Given the description of an element on the screen output the (x, y) to click on. 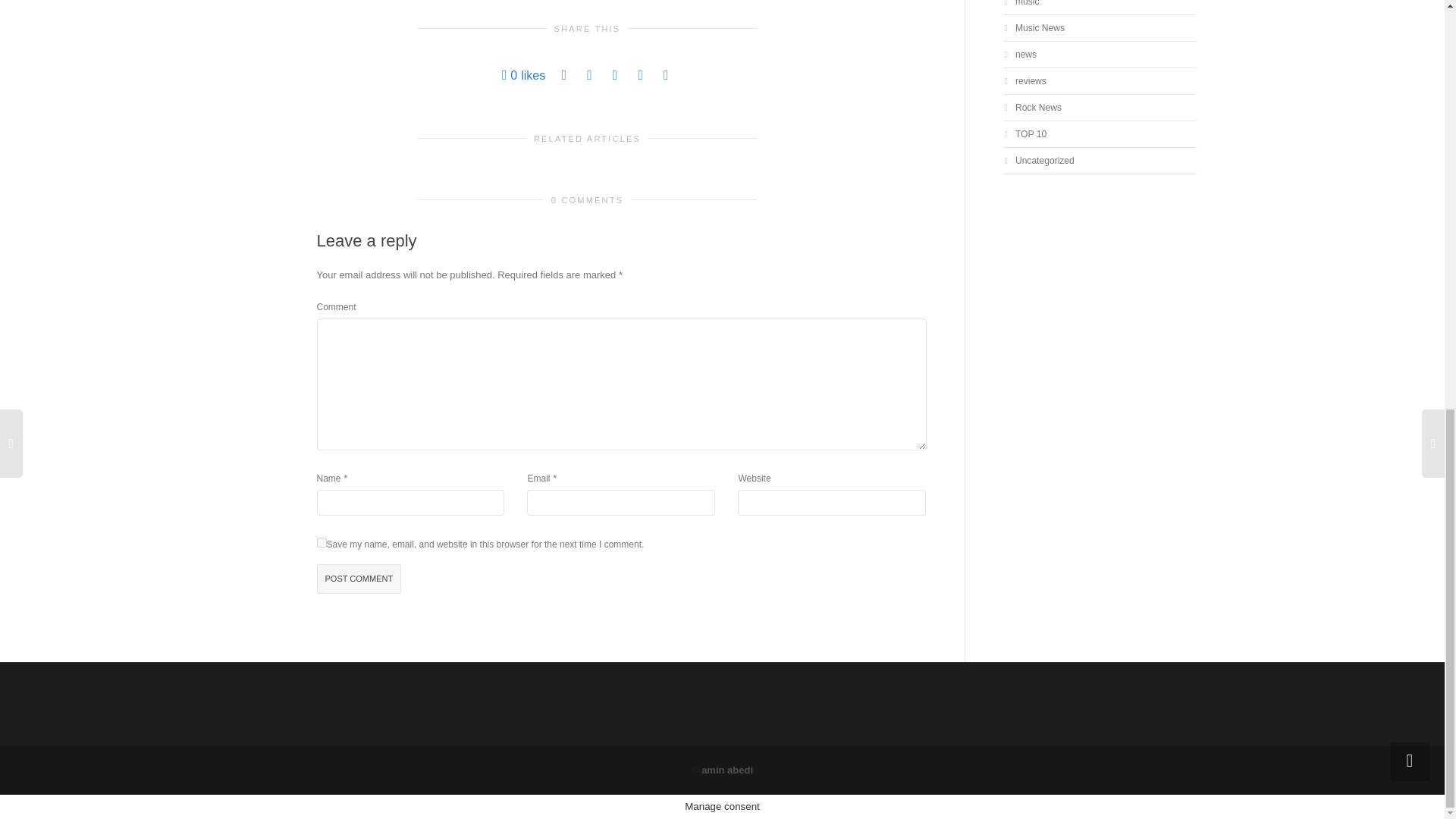
Like this (524, 75)
0 likes (524, 75)
yes (321, 542)
Post comment (359, 578)
